Given the description of an element on the screen output the (x, y) to click on. 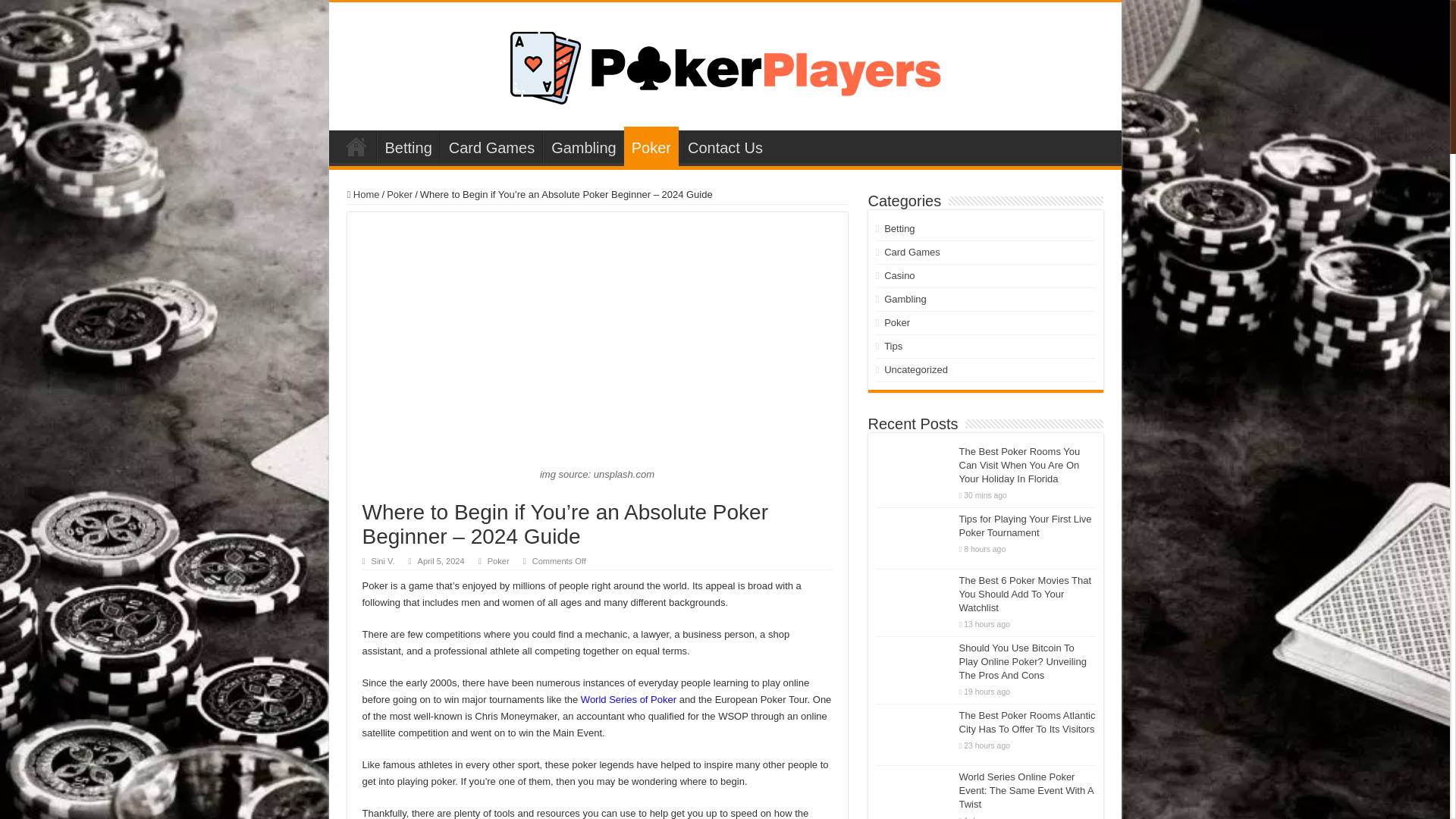
Poker Players Alliance (724, 63)
Card Games (491, 146)
Poker (651, 146)
Betting (407, 146)
Poker (498, 560)
HOME (355, 146)
Betting (898, 228)
World Series of Poker (628, 699)
Poker (399, 194)
Contact Us (724, 146)
Home (363, 194)
Gambling (583, 146)
Sini V. (382, 560)
